Given the description of an element on the screen output the (x, y) to click on. 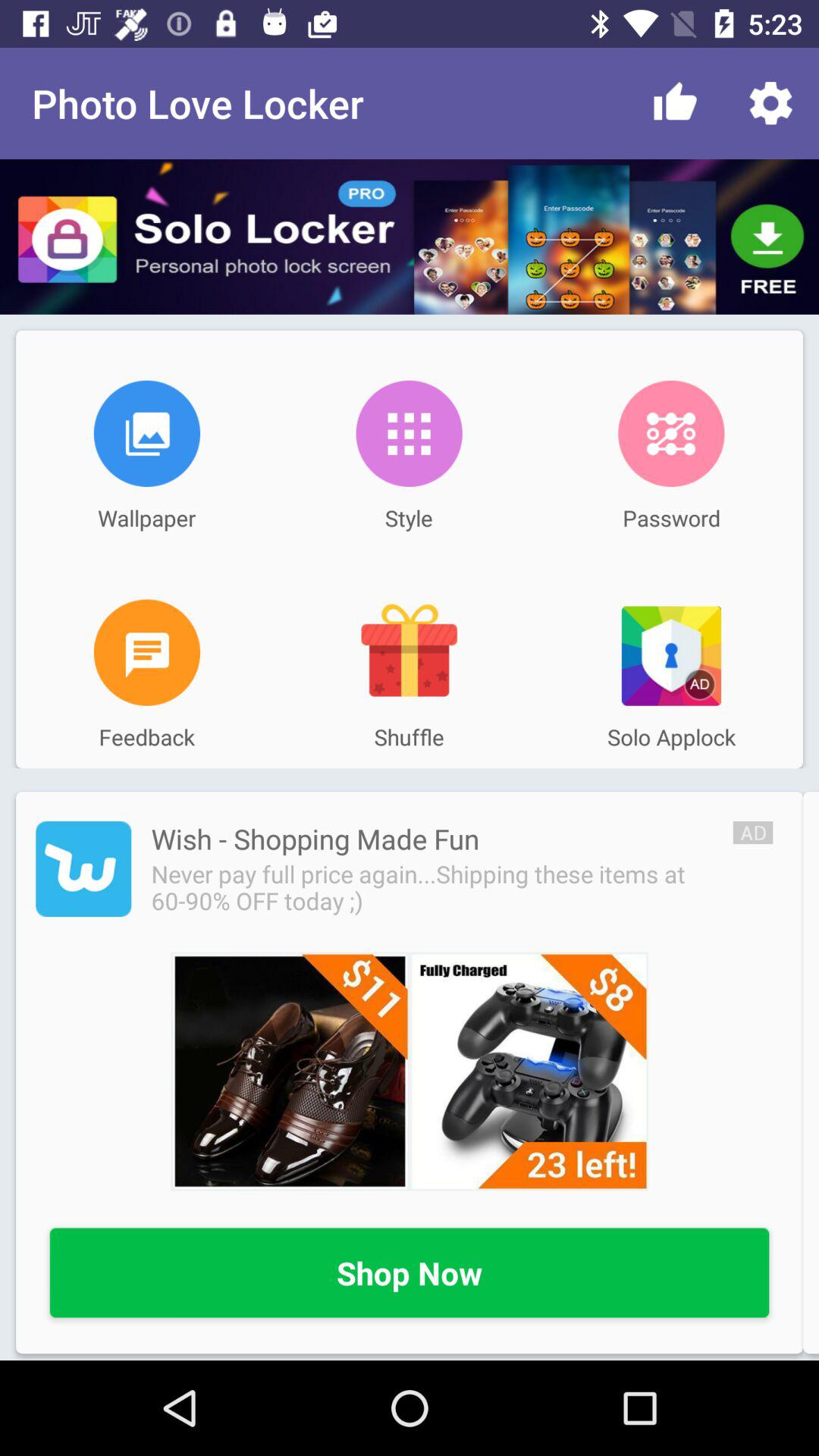
open the icon to the left of the style item (146, 433)
